Given the description of an element on the screen output the (x, y) to click on. 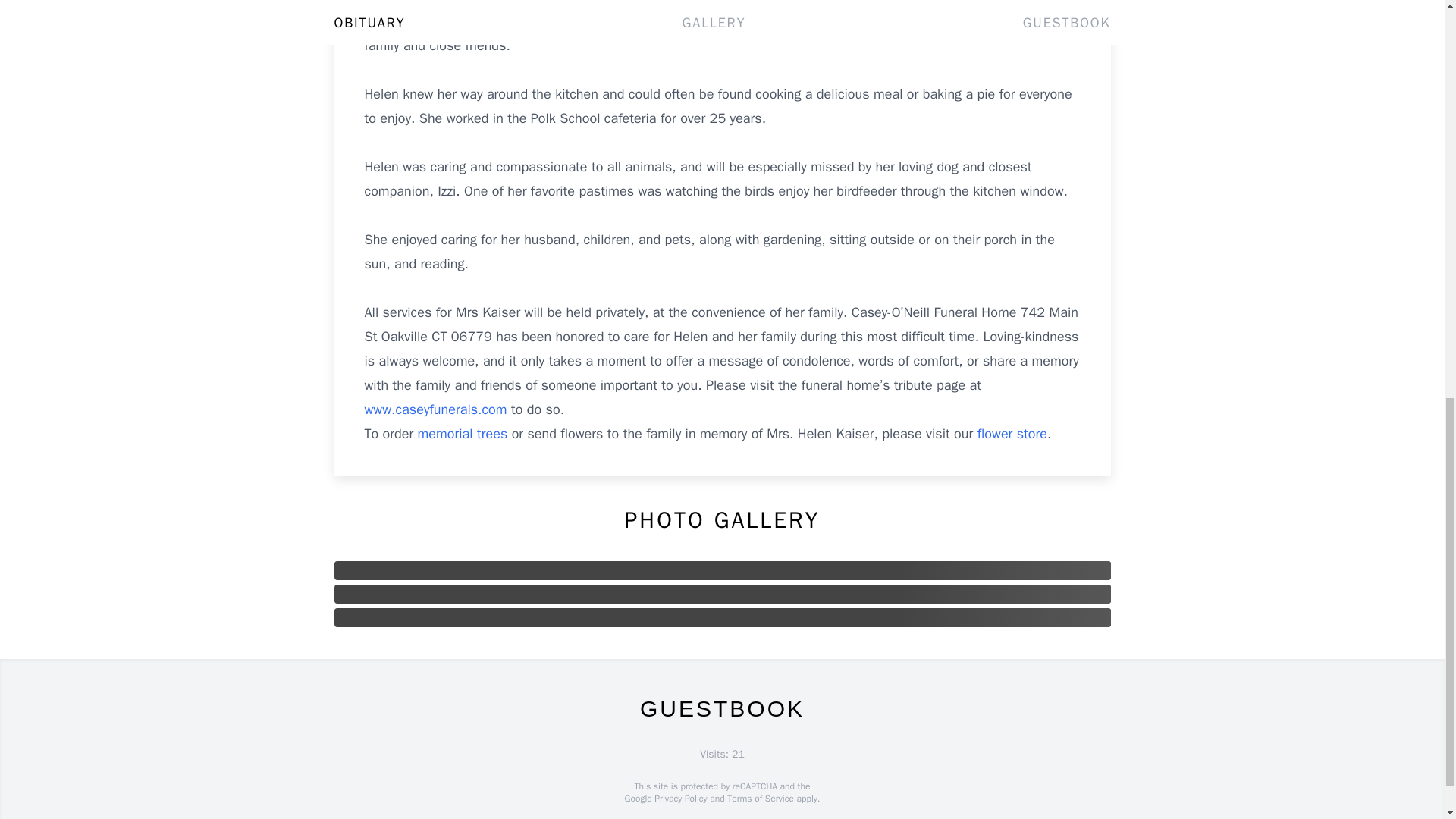
Terms of Service (759, 798)
flower store (1011, 433)
www.caseyfunerals.com (437, 409)
Privacy Policy (679, 798)
Click to open in a new window or tab (437, 409)
memorial trees (462, 433)
OpenStreetMap (737, 817)
